Given the description of an element on the screen output the (x, y) to click on. 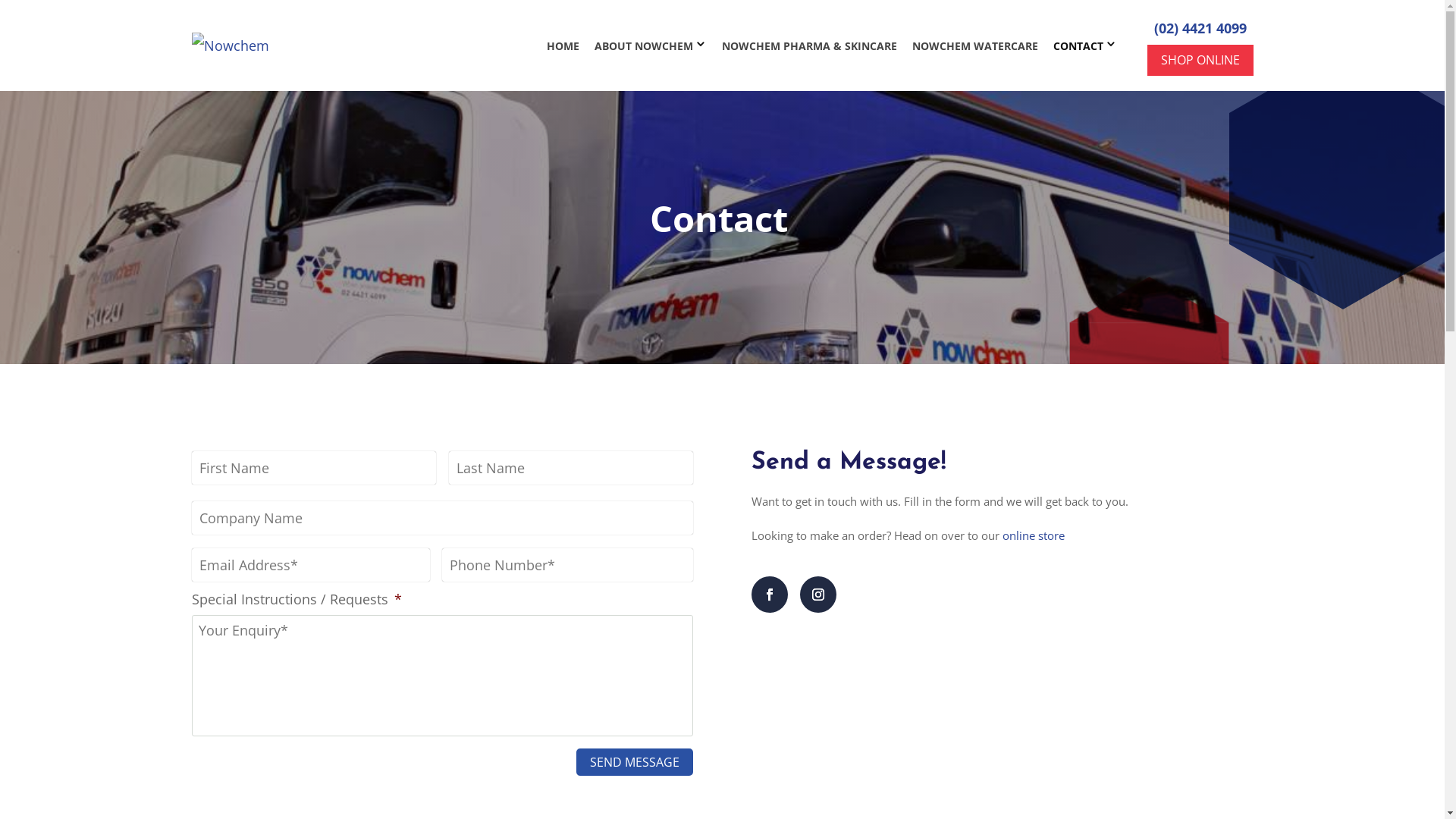
Follow on Instagram Element type: hover (818, 594)
CONTACT Element type: text (1077, 45)
SHOP ONLINE Element type: text (1199, 59)
ABOUT NOWCHEM Element type: text (643, 45)
online store Element type: text (1033, 534)
Follow on Facebook Element type: hover (769, 594)
NOWCHEM WATERCARE Element type: text (974, 45)
Send Message Element type: text (634, 761)
(02) 4421 4099 Element type: text (1199, 27)
NOWCHEM PHARMA & SKINCARE Element type: text (809, 45)
HOME Element type: text (562, 45)
